Given the description of an element on the screen output the (x, y) to click on. 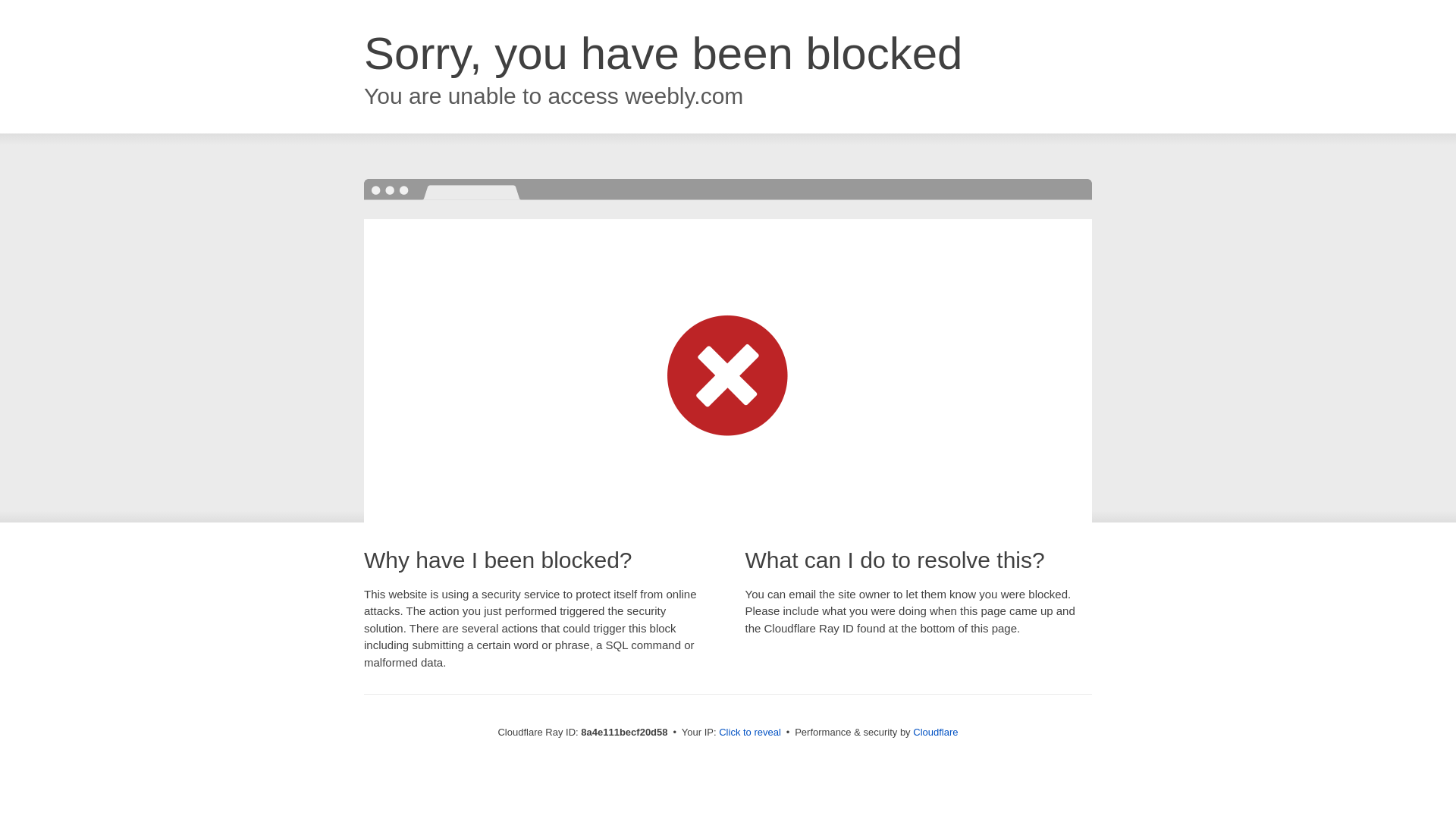
Click to reveal (749, 732)
Cloudflare (935, 731)
